Given the description of an element on the screen output the (x, y) to click on. 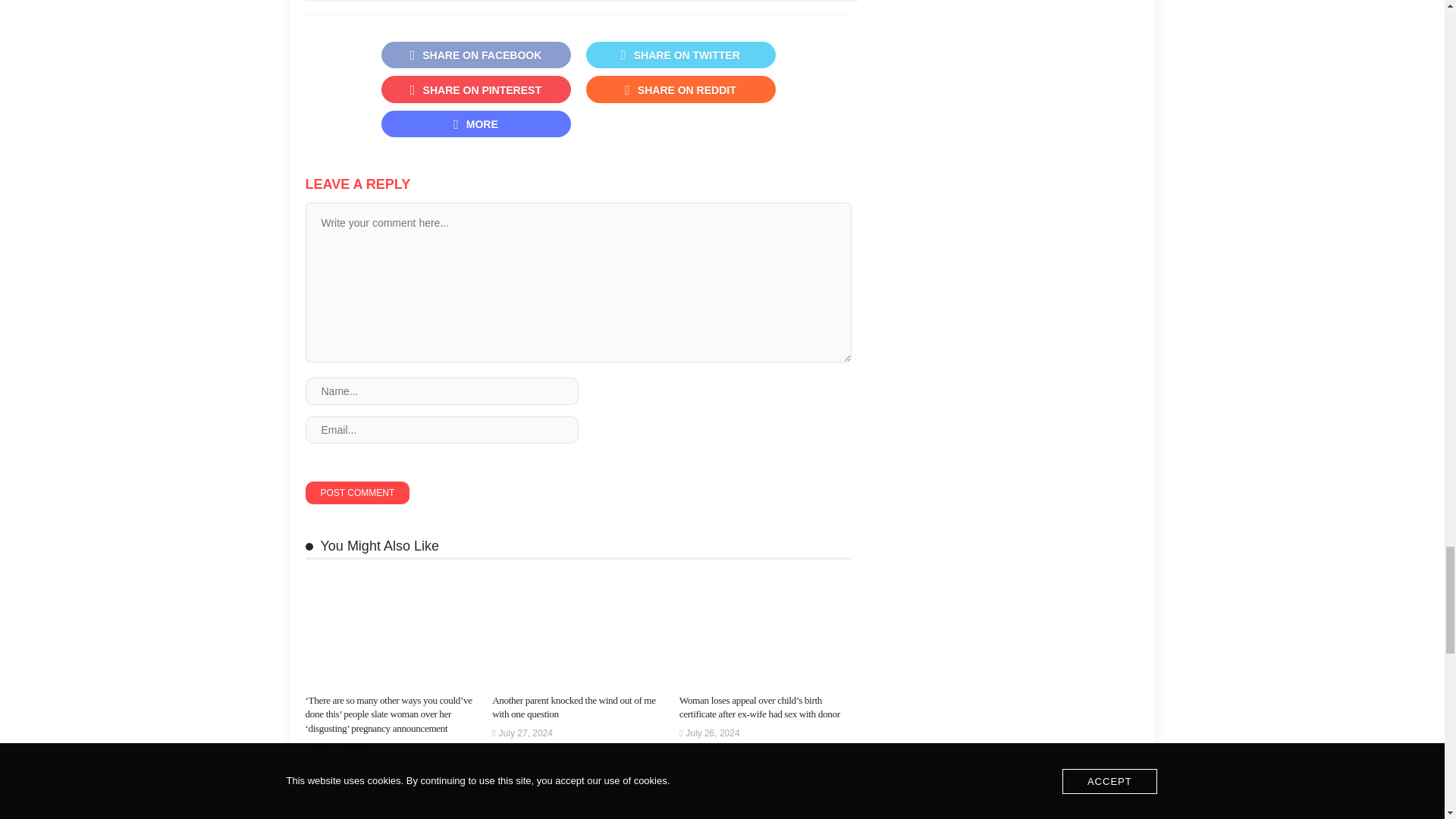
Post Comment (356, 492)
Another parent knocked the wind out of me with one question (574, 706)
